Given the description of an element on the screen output the (x, y) to click on. 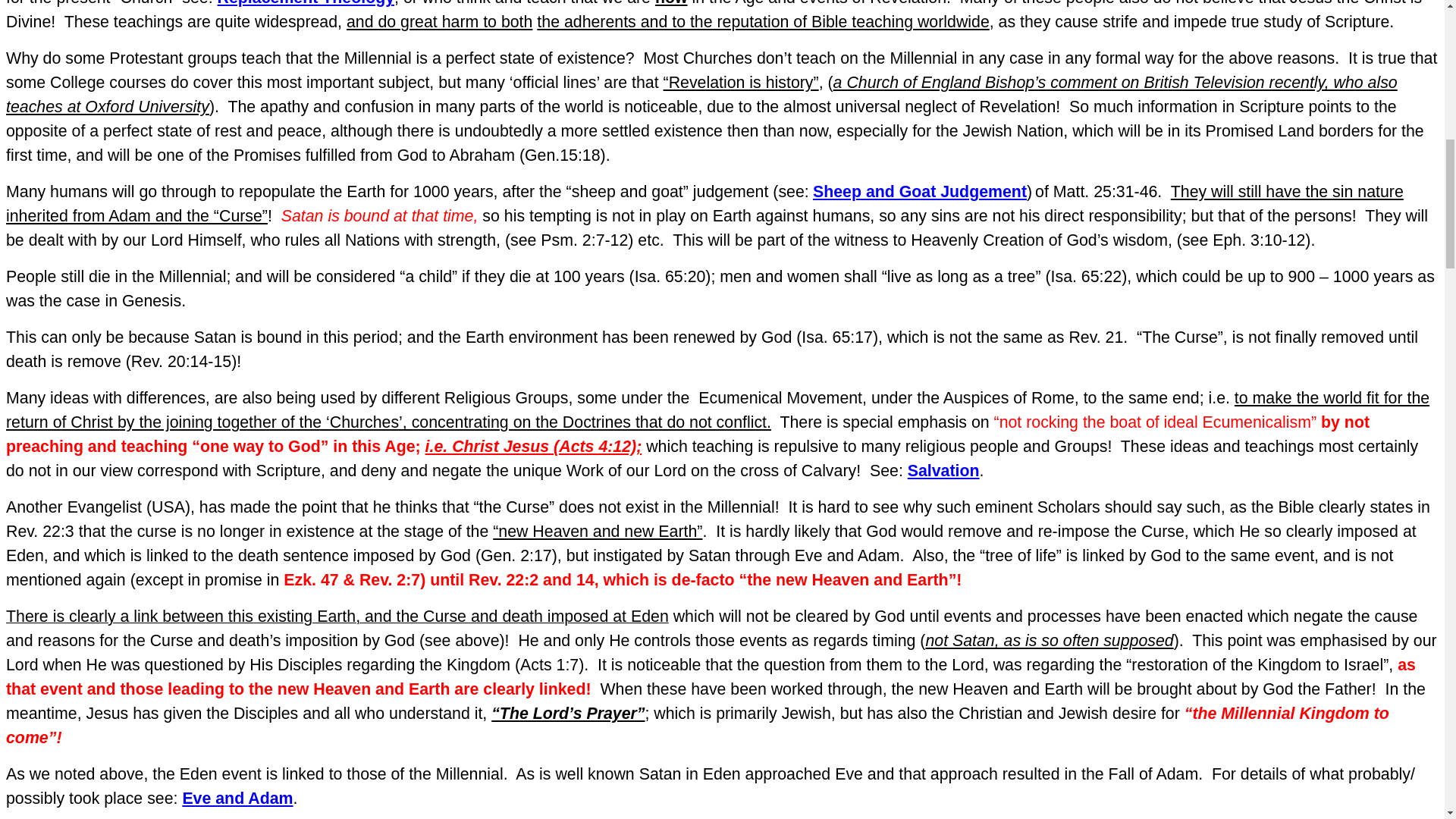
The Sheep and Goat Judgement (919, 191)
Replacement Theology (305, 3)
Sheep and Goat Judgement (919, 191)
Eve and Adam (237, 798)
Eve and Adam (237, 798)
Salvation (943, 470)
Replacement Theology (305, 3)
Salvation (943, 470)
